Given the description of an element on the screen output the (x, y) to click on. 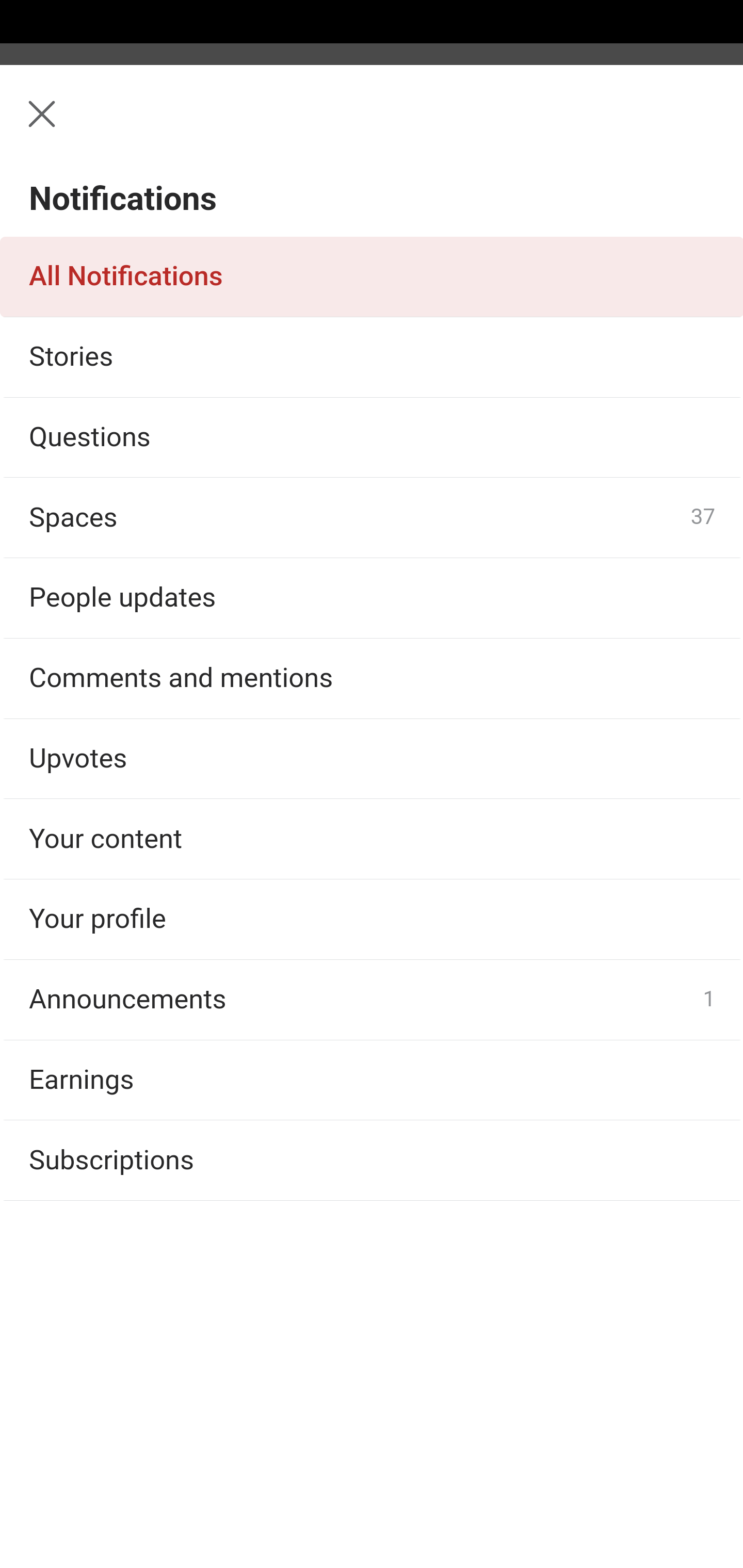
Me Notifications Search (371, 125)
Me (64, 125)
Mark All As Read (135, 213)
